Given the description of an element on the screen output the (x, y) to click on. 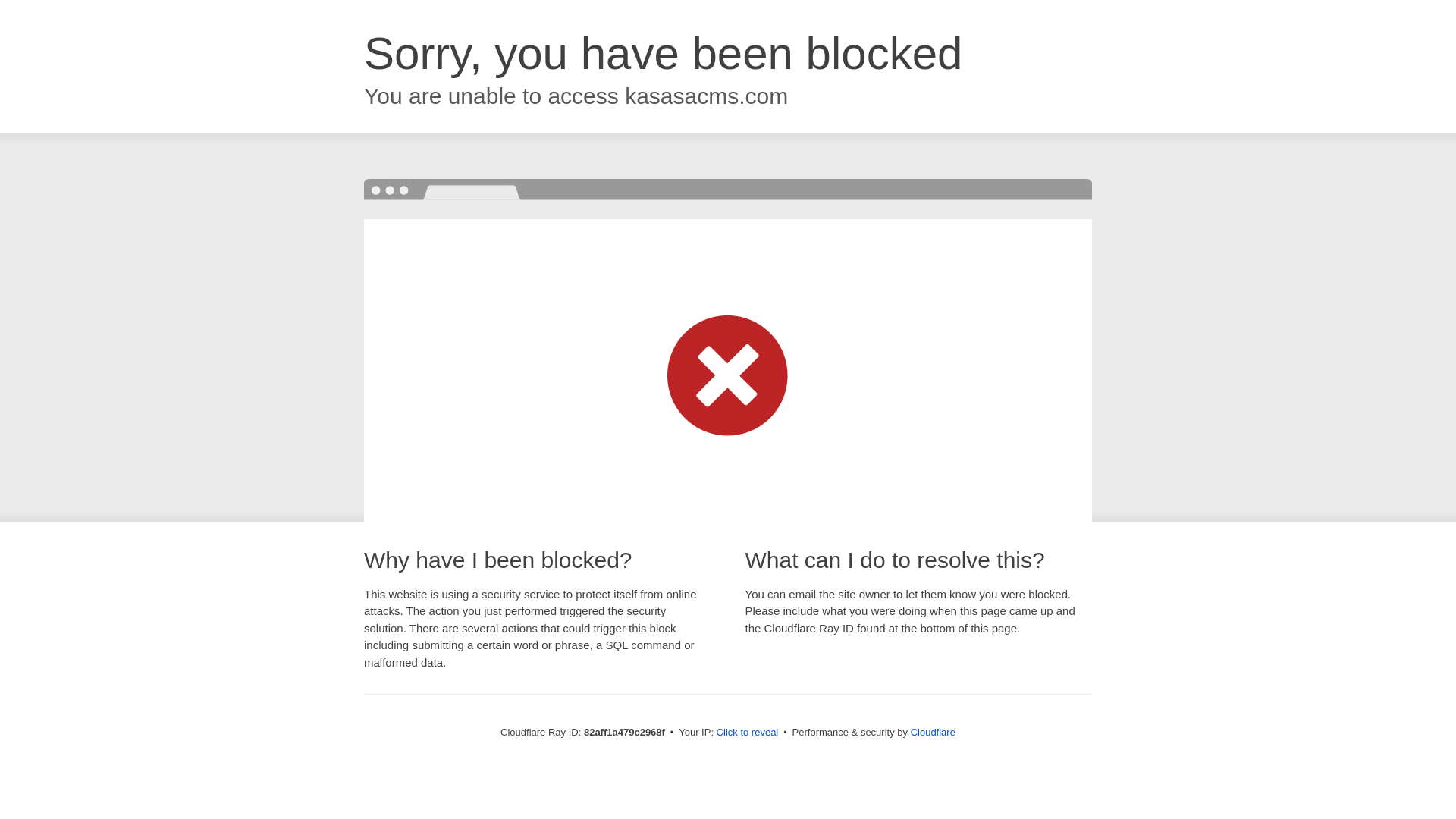
Click to reveal Element type: text (747, 732)
Cloudflare Element type: text (932, 731)
